Given the description of an element on the screen output the (x, y) to click on. 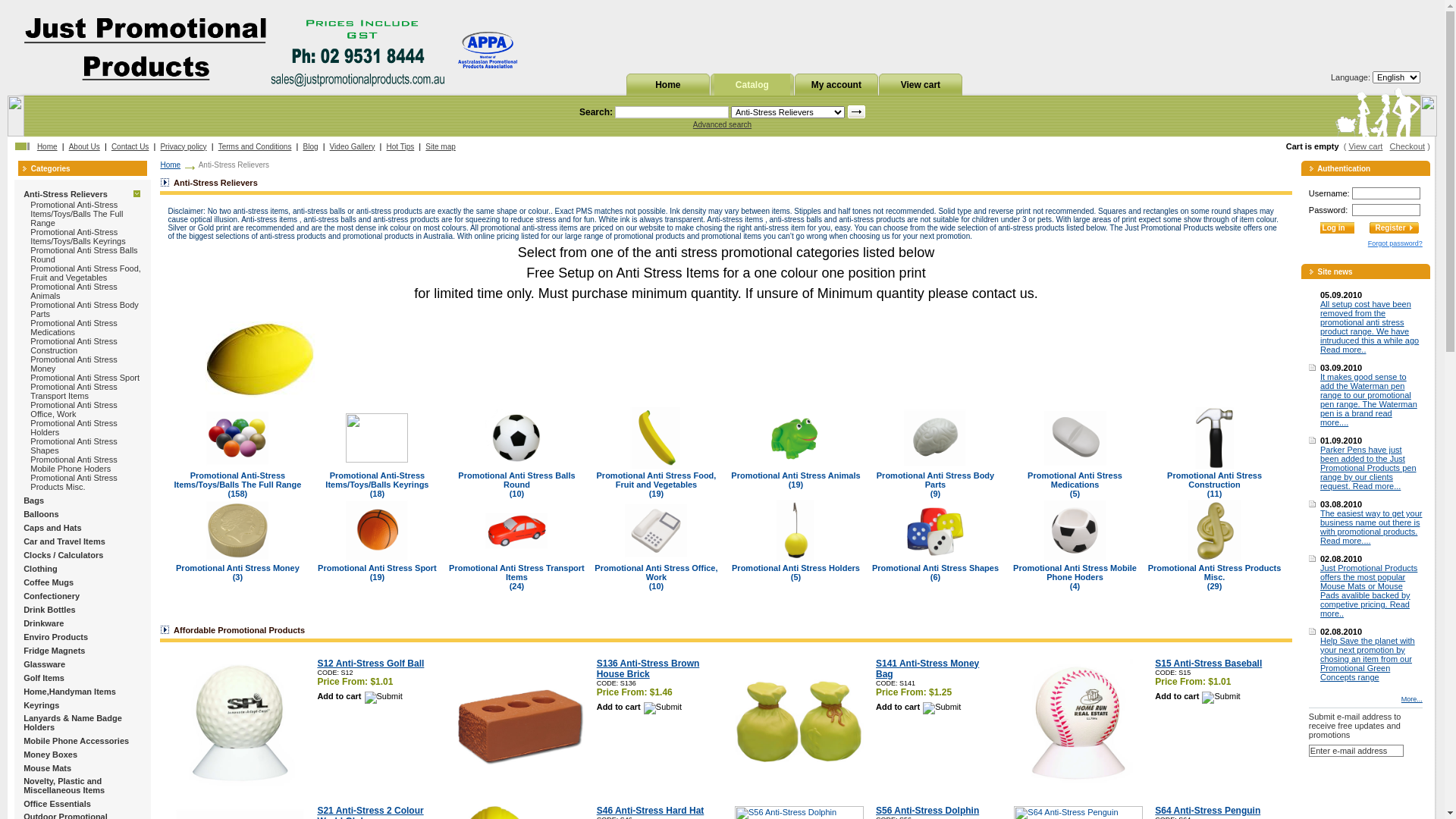
Promotional Anti Stress Transport Items
(24) Element type: text (516, 575)
Add to cart  Element type: text (638, 706)
Lanyards & Name Badge Holders Element type: text (72, 722)
 Log in     Element type: text (1337, 227)
Promotional Anti Stress Products Misc.
(29) Element type: text (1214, 575)
Mouse Mats Element type: text (47, 766)
Search Element type: hover (856, 111)
Coffee Mugs Element type: text (48, 581)
Caps and Hats Element type: text (52, 527)
Promotional Anti Stress Food, Fruit and Vegetables Element type: text (85, 272)
Drinkware Element type: text (43, 622)
Promotional Anti Stress Mobile Phone Hoders
(4) Element type: text (1074, 575)
Video Gallery Element type: text (352, 146)
Money Boxes Element type: text (50, 753)
Home,Handyman Items Element type: text (69, 691)
Promotional Anti Stress Products Misc. Element type: text (73, 482)
Clothing Element type: text (40, 568)
Promotional Anti Stress Construction Element type: text (73, 345)
Privacy policy Element type: text (183, 146)
Car and Travel Items Element type: text (64, 541)
Checkout Element type: text (1407, 145)
Add to cart  Element type: text (917, 706)
Add to cart  Element type: text (1196, 695)
Add to cart  Element type: text (358, 695)
Promotional Anti Stress Medications Element type: text (73, 327)
Glassware Element type: text (44, 663)
Terms and Conditions Element type: text (254, 146)
Site map Element type: text (440, 146)
Hot Tips Element type: text (400, 146)
More... Element type: text (1411, 698)
 My account  Element type: text (836, 84)
S56 Anti-Stress Dolphin Element type: text (927, 810)
Contact Us Element type: text (129, 146)
Promotional Anti Stress Holders
(5) Element type: text (795, 571)
S136 Anti-Stress Brown House Brick Element type: text (647, 668)
Anti-Stress Relievers Element type: text (65, 193)
Promotional Anti-Stress Items/Toys/Balls The Full Range Element type: text (76, 213)
Promotional Anti Stress Sport Element type: text (84, 377)
Promotional Anti Stress Shapes
(6) Element type: text (935, 571)
Confectionery Element type: text (51, 595)
Promotional Anti-Stress Items/Toys/Balls Keyrings
(18) Element type: text (376, 483)
 Home  Element type: text (668, 84)
Promotional Anti Stress Construction
(11) Element type: text (1214, 483)
Catalog Element type: text (751, 83)
Promotional Anti Stress Body Parts Element type: text (84, 309)
Promotional Anti Stress Animals Element type: text (73, 291)
Promotional Anti Stress Mobile Phone Hoders Element type: text (73, 464)
Home Element type: text (47, 146)
Promotional Anti Stress Office, Work Element type: text (73, 409)
Promotional Anti Stress Body Parts
(9) Element type: text (935, 483)
S46 Anti-Stress Hard Hat Element type: text (650, 810)
About Us Element type: text (84, 146)
Home Element type: text (667, 83)
Promotional Anti Stress Money
(3) Element type: text (237, 571)
Promotional Anti Stress Holders Element type: text (73, 427)
Home Element type: text (170, 164)
Promotional Anti Stress Transport Items Element type: text (73, 391)
Fridge Magnets Element type: text (53, 650)
View cart Element type: text (920, 83)
Promotional Anti Stress Shapes Element type: text (73, 445)
Promotional Anti Stress Medications
(5) Element type: text (1074, 483)
Promotional Anti Stress Office, Work
(10) Element type: text (655, 575)
S141 Anti-Stress Money Bag Element type: text (927, 668)
Golf Items Element type: text (43, 677)
Advanced search Element type: text (722, 124)
Promotional Anti Stress Food, Fruit and Vegetables
(19) Element type: text (656, 483)
Promotional Anti Stress Sport
(19) Element type: text (376, 571)
Promotional Anti-Stress Items/Toys/Balls Keyrings Element type: text (77, 236)
Promotional Anti Stress Balls Round
(10) Element type: text (516, 483)
Keyrings Element type: text (41, 704)
Promotional Anti Stress Animals
(19) Element type: text (795, 479)
Forgot password? Element type: text (1395, 243)
S15 Anti-Stress Baseball Element type: text (1207, 663)
S12 Anti-Stress Golf Ball Element type: text (369, 663)
 Register     Element type: text (1393, 227)
Office Essentials Element type: text (57, 803)
My account Element type: text (836, 83)
S64 Anti-Stress Penguin Element type: text (1207, 810)
Mobile Phone Accessories Element type: text (75, 739)
Balloons Element type: text (40, 513)
Promotional Anti Stress Money Element type: text (73, 363)
 View cart  Element type: text (920, 84)
Promotional Anti Stress Balls Round Element type: text (83, 254)
Blog Element type: text (310, 146)
Clocks / Calculators Element type: text (63, 554)
Enviro Products Element type: text (55, 636)
Bags Element type: text (33, 500)
Novelty, Plastic and Miscellaneous Items Element type: text (63, 785)
View cart Element type: text (1365, 145)
Drink Bottles Element type: text (49, 609)
